Given the description of an element on the screen output the (x, y) to click on. 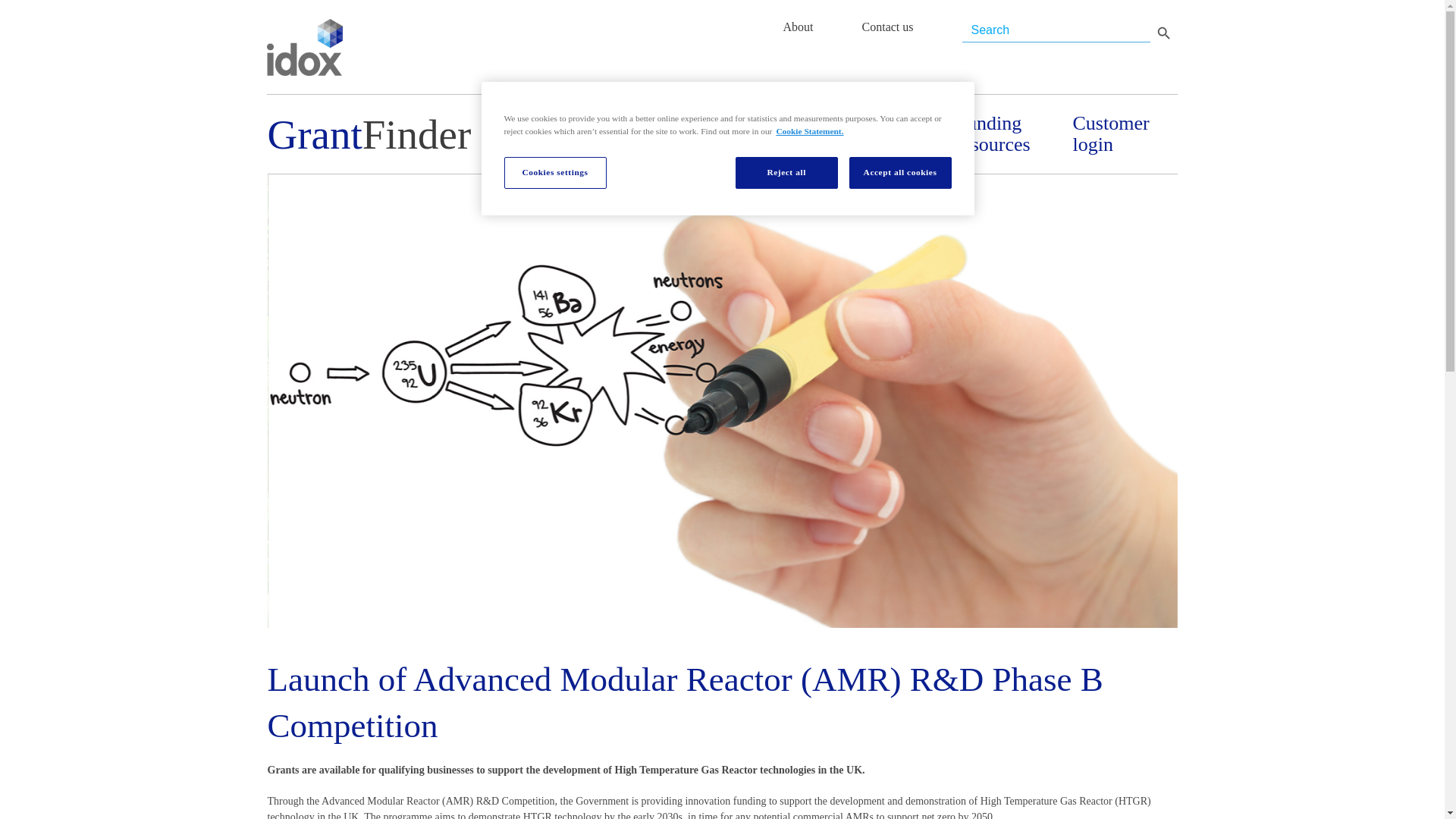
Contact us (887, 26)
Customer login (1123, 134)
Funding services (890, 134)
Search Button (1163, 31)
Funding highlights (774, 134)
NewLogoRetina (304, 47)
About (798, 26)
Funding resources (1007, 134)
